Given the description of an element on the screen output the (x, y) to click on. 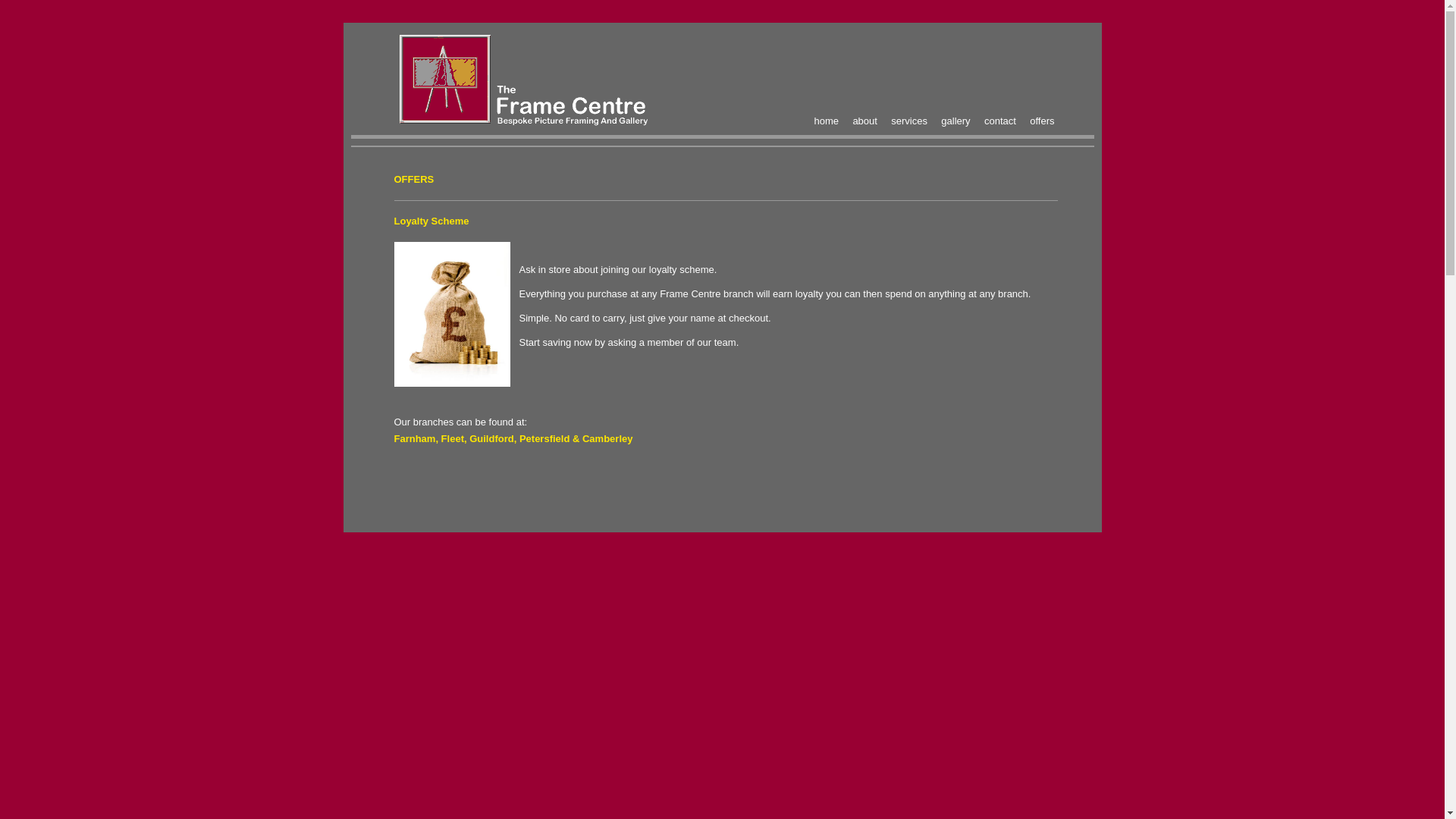
about (864, 120)
services (909, 120)
contact (1000, 120)
gallery (954, 120)
home (826, 120)
offers (1041, 120)
